Given the description of an element on the screen output the (x, y) to click on. 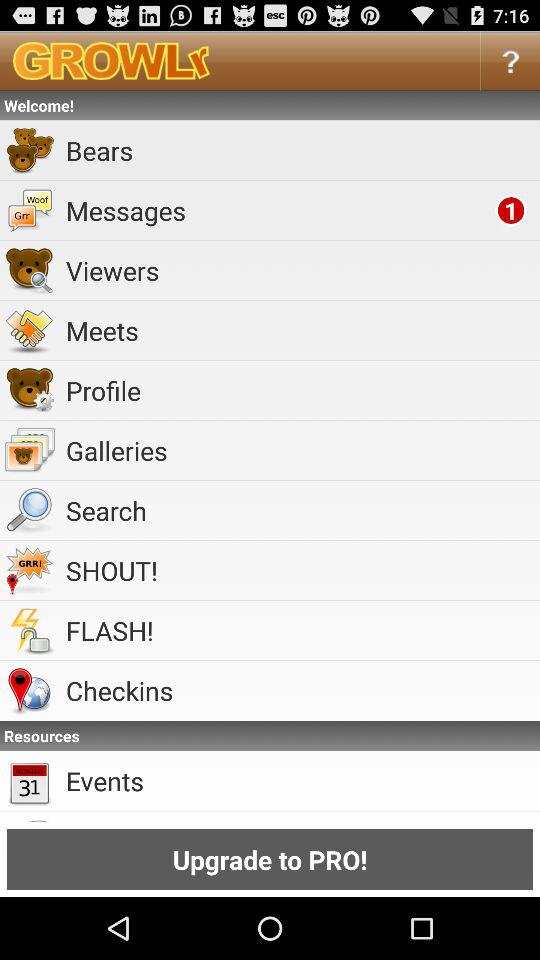
launch the resources item (270, 735)
